Given the description of an element on the screen output the (x, y) to click on. 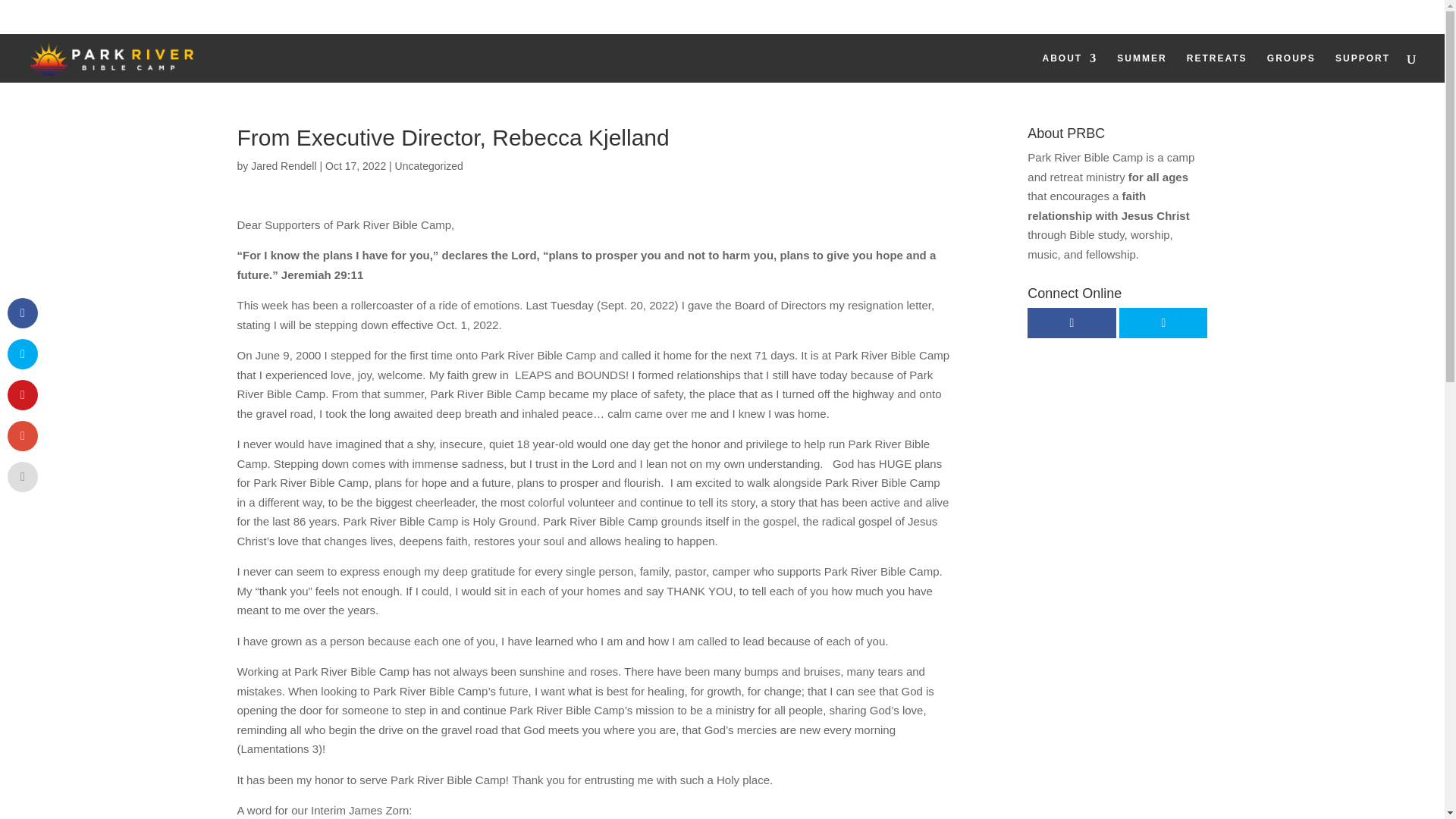
Posts by Jared Rendell (282, 165)
RETREATS (1216, 67)
Jared Rendell (282, 165)
ABOUT (1069, 67)
Uncategorized (428, 165)
WORK AT CAMP (1300, 20)
DONATE (1392, 20)
GROUPS (1291, 67)
REGISTER (1203, 20)
SUMMER (1141, 67)
SUPPORT (1362, 67)
